Given the description of an element on the screen output the (x, y) to click on. 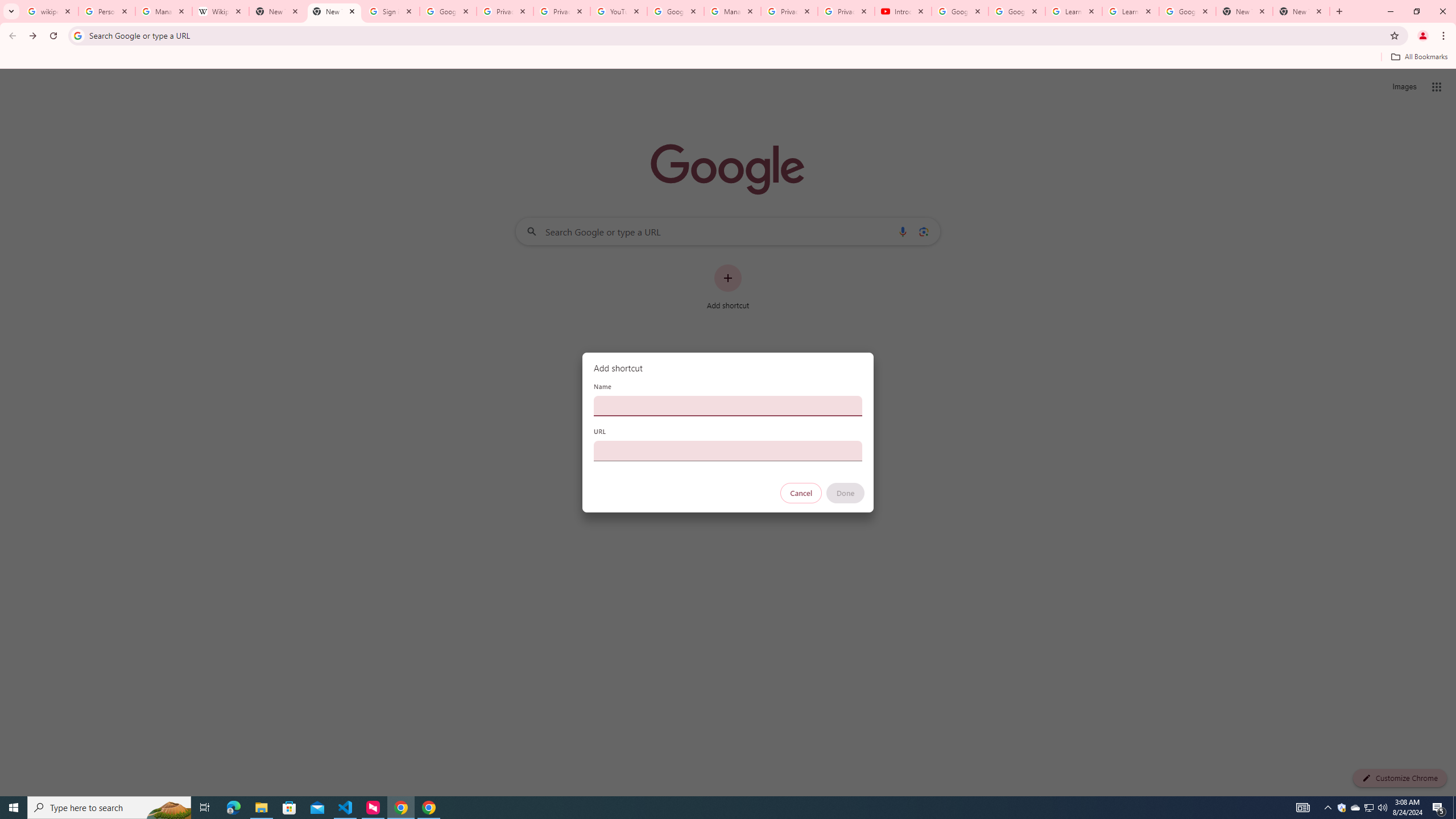
Google Account (1187, 11)
Google Drive: Sign-in (447, 11)
Google Account Help (675, 11)
